Given the description of an element on the screen output the (x, y) to click on. 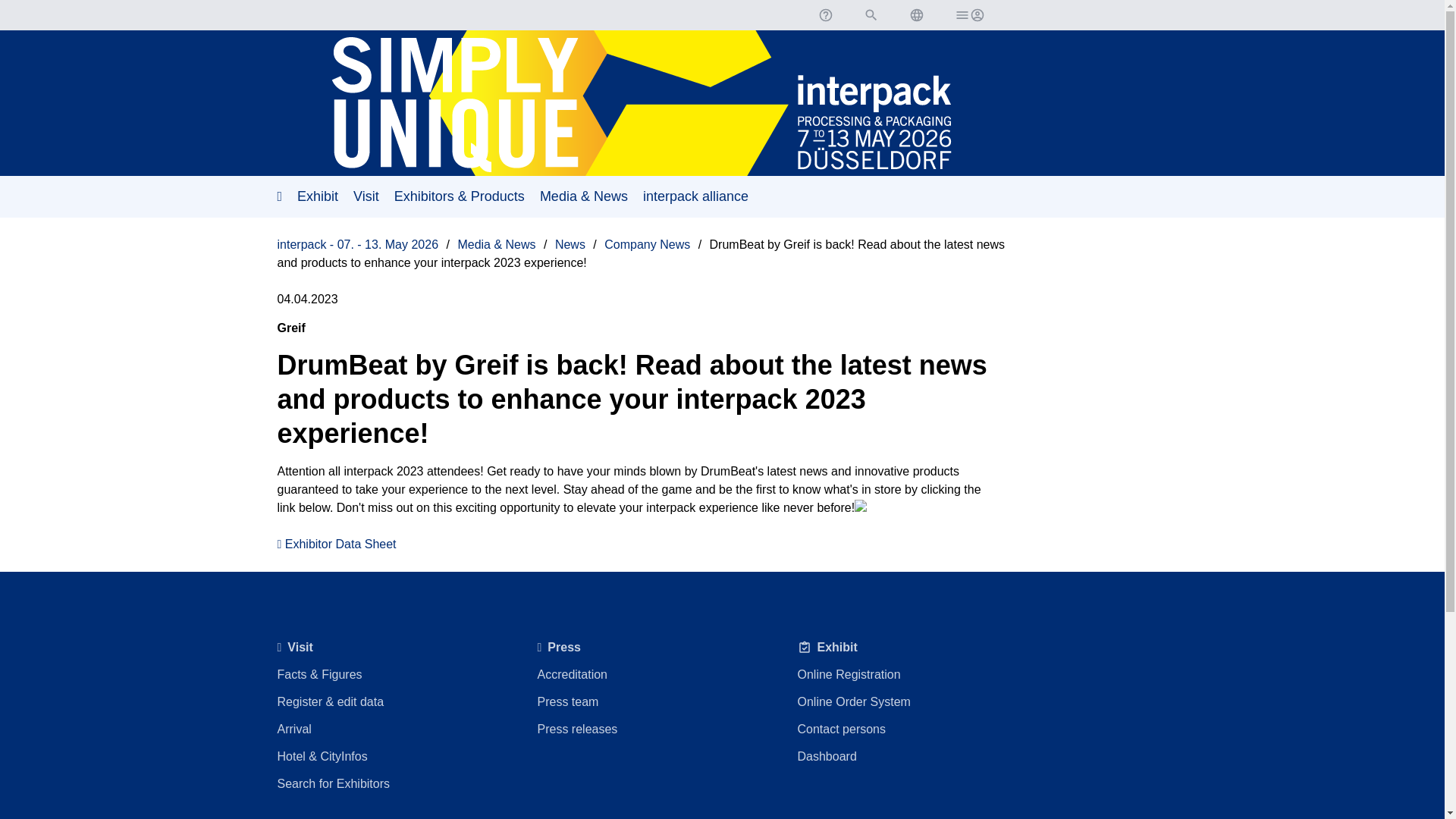
ENGLISH (915, 14)
Login (968, 14)
Support (824, 14)
Search (870, 14)
